Given the description of an element on the screen output the (x, y) to click on. 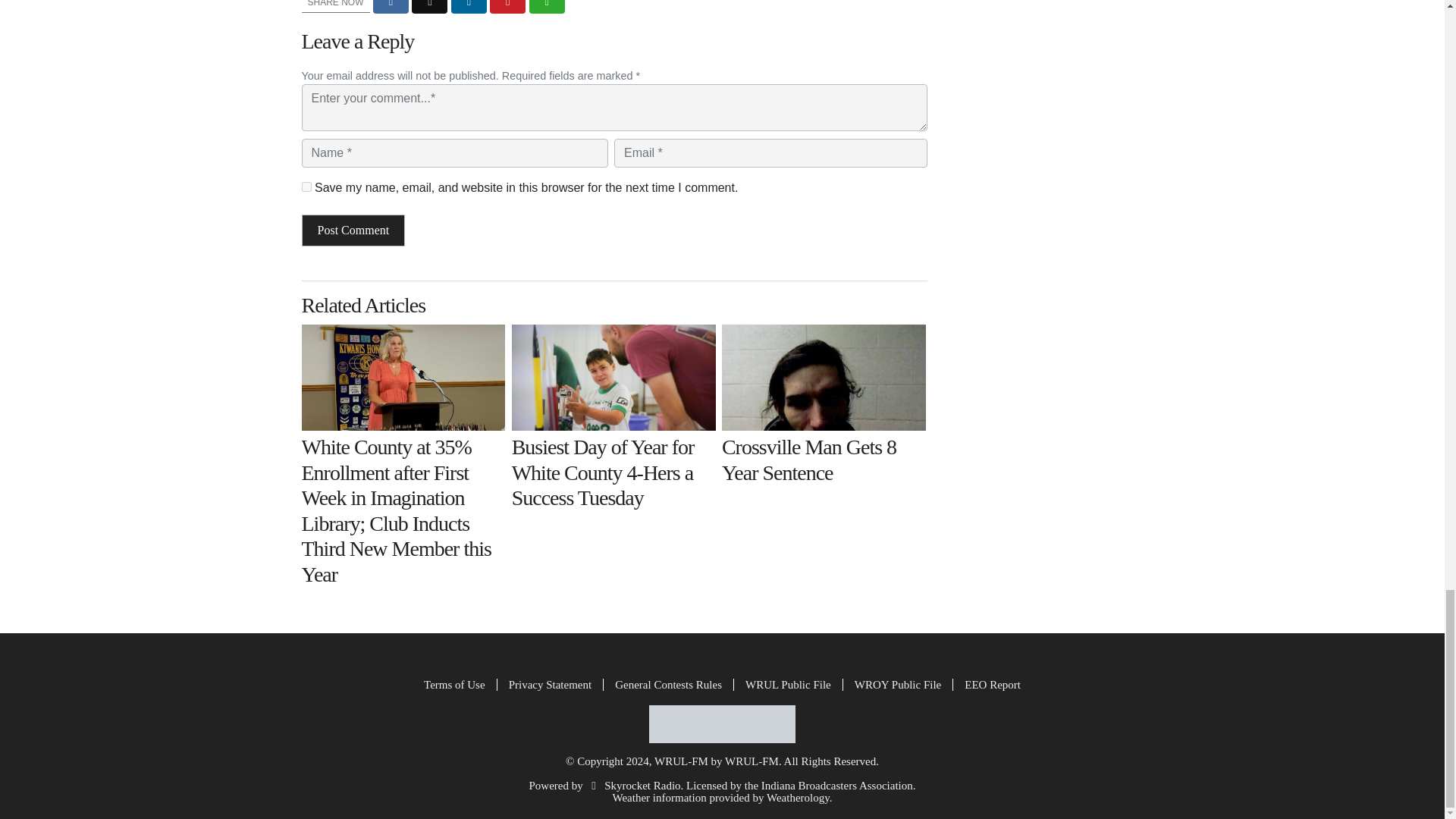
Post Comment (353, 230)
yes (306, 186)
